Given the description of an element on the screen output the (x, y) to click on. 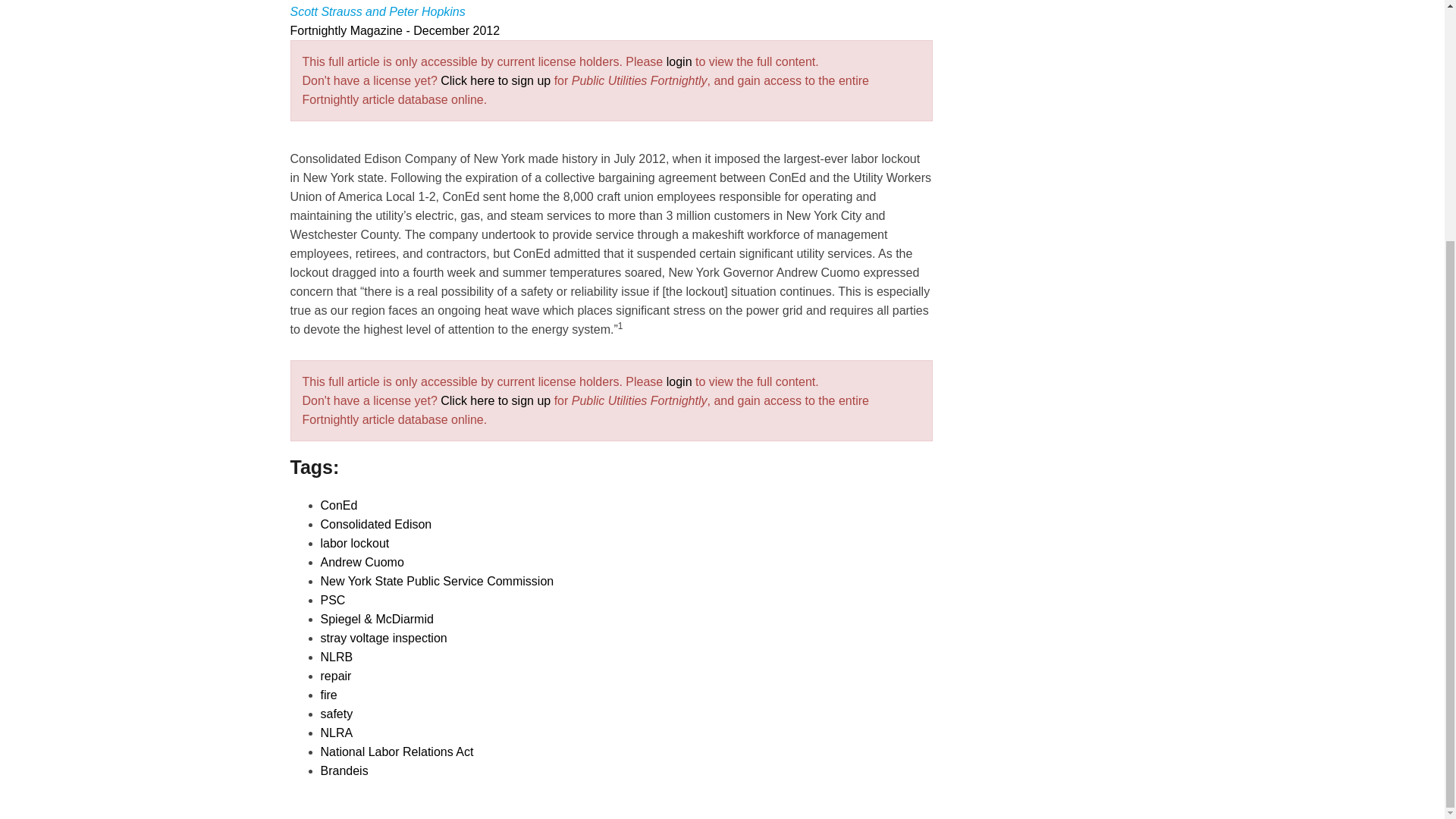
Fortnightly Magazine - December 2012 (394, 30)
labor lockout (354, 543)
NLRA (336, 732)
ConEd (338, 504)
NLRB (336, 656)
Brandeis (344, 770)
fire (328, 694)
PSC (332, 599)
login (679, 381)
New York State Public Service Commission (436, 581)
